Given the description of an element on the screen output the (x, y) to click on. 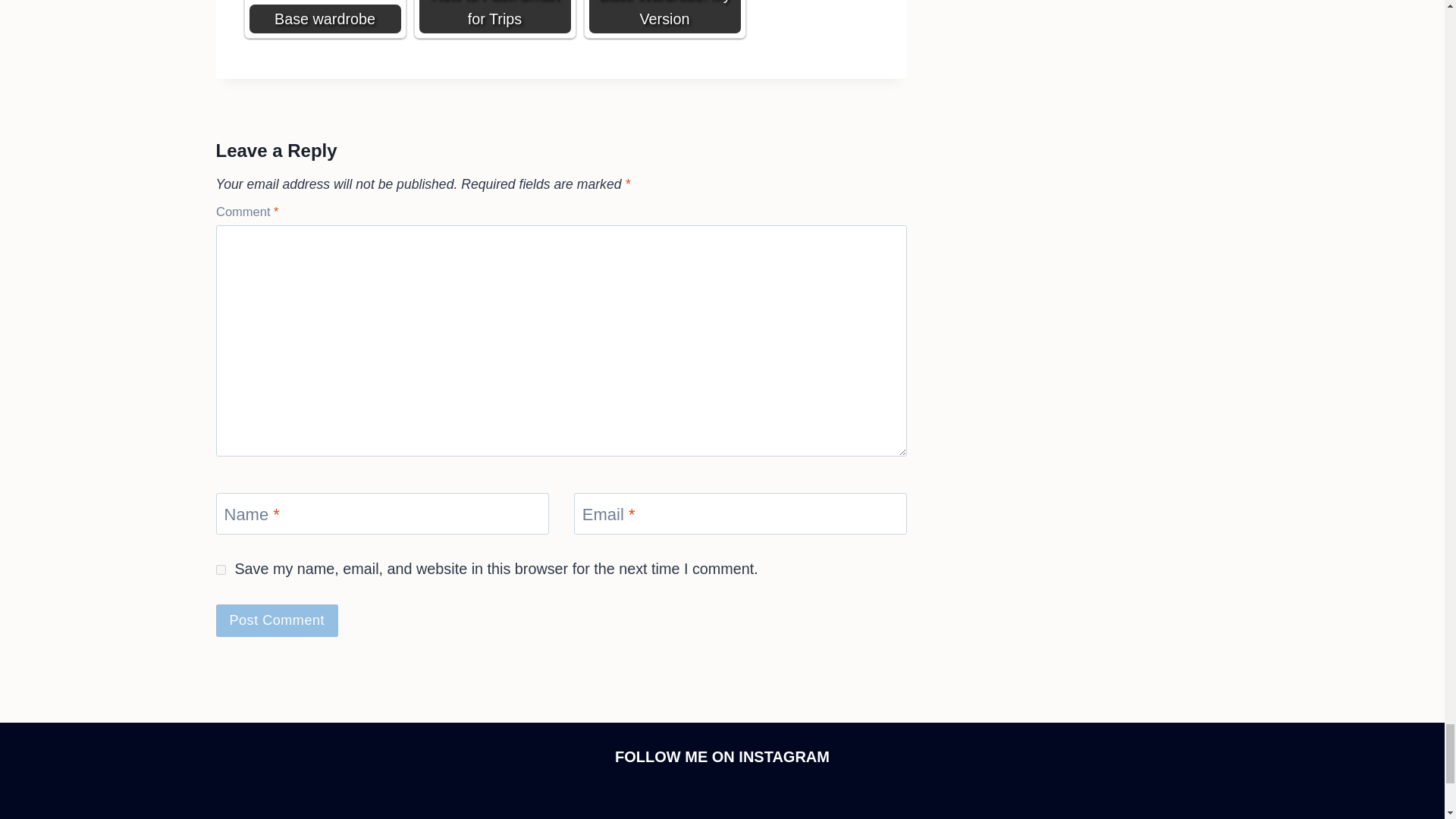
Base wardrobe (324, 16)
Base Wardrobe: My Version (663, 16)
yes (220, 569)
Post Comment (276, 620)
How to Pack Smart for Trips (494, 16)
